Given the description of an element on the screen output the (x, y) to click on. 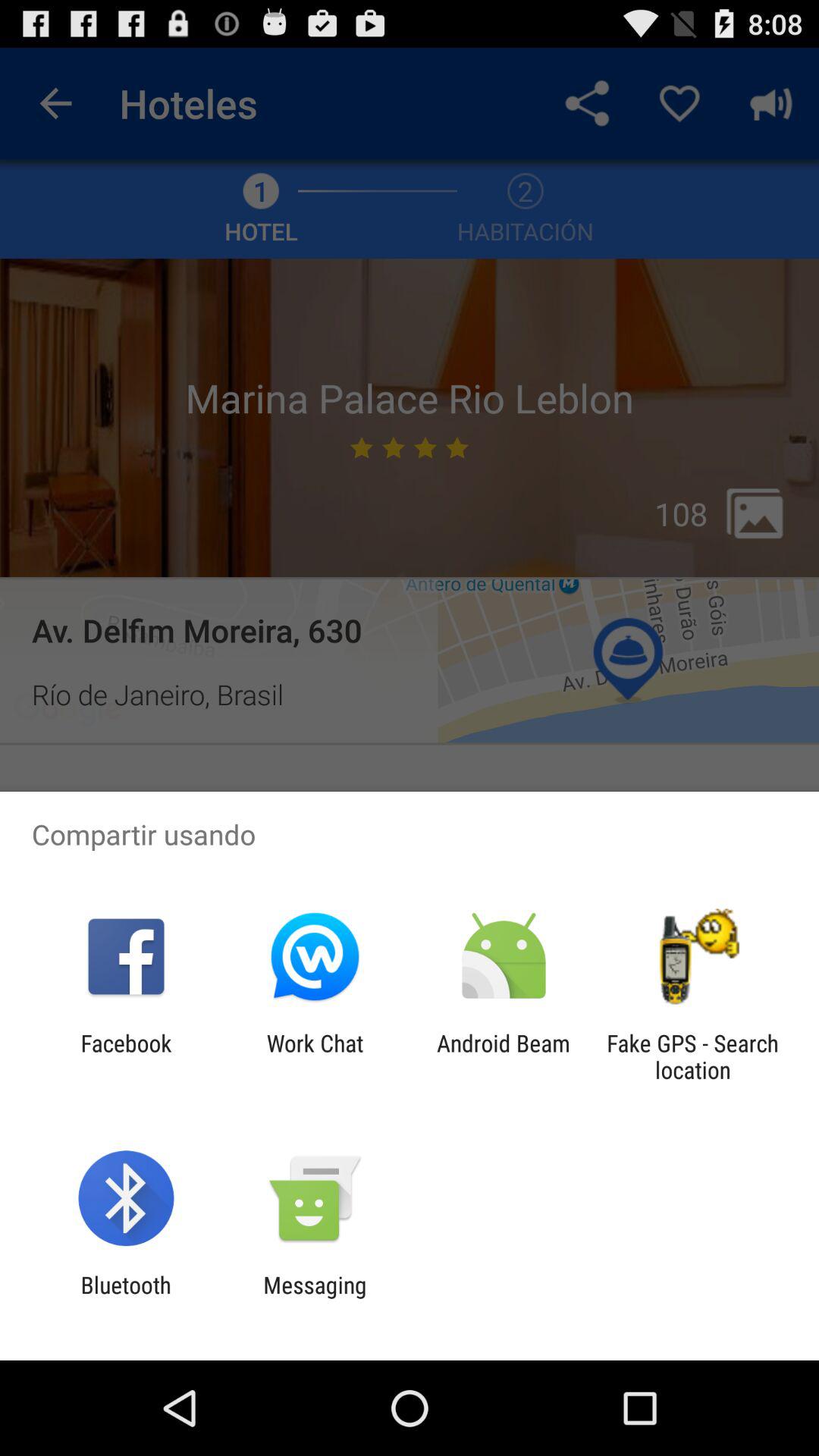
tap app next to work chat icon (125, 1056)
